Given the description of an element on the screen output the (x, y) to click on. 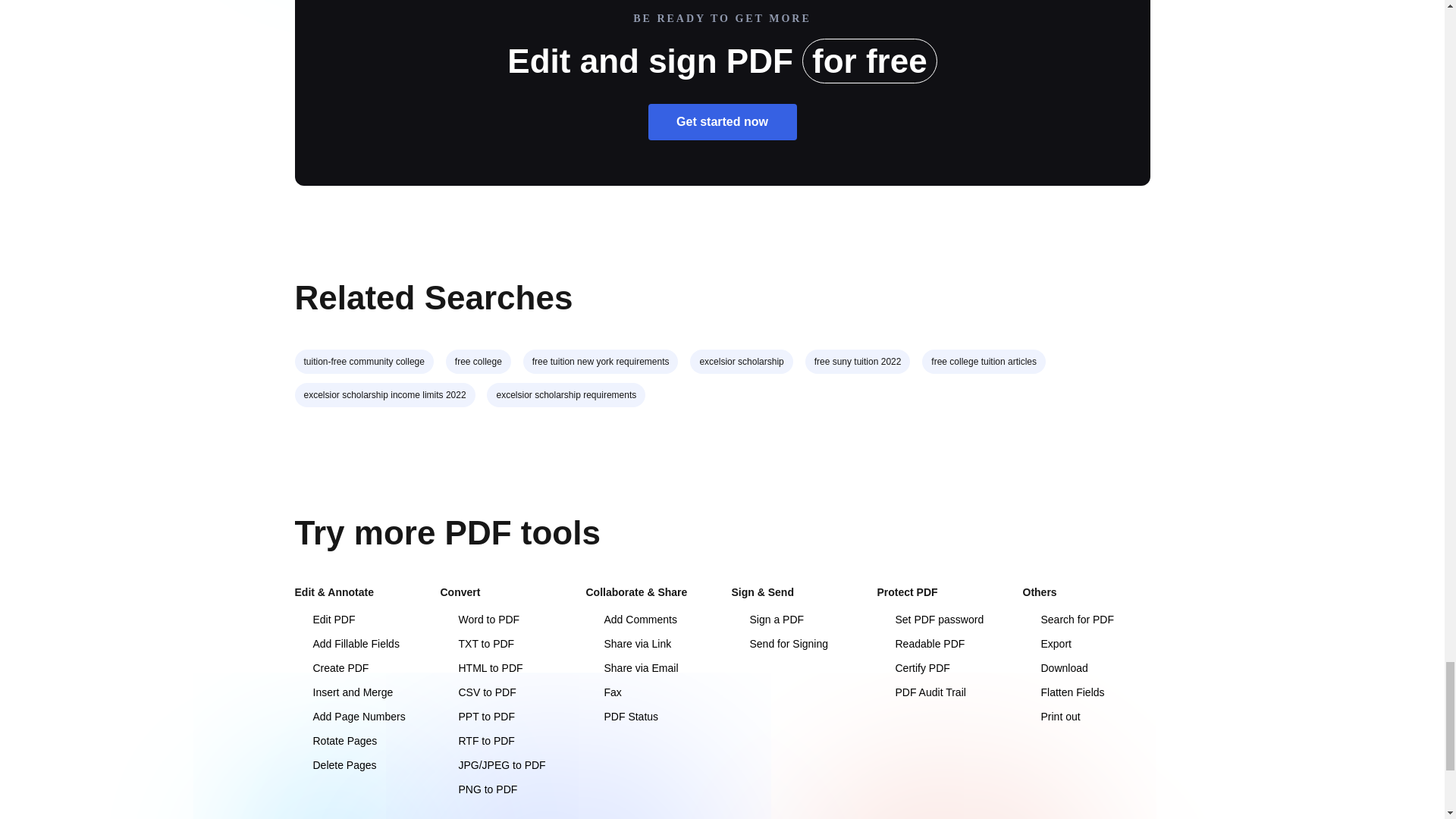
CSV to PDF (477, 692)
HTML to PDF (480, 667)
PPT to PDF (476, 716)
Add Fillable Fields (346, 644)
Sign a PDF (766, 619)
Edit PDF (324, 619)
Add Page Numbers (349, 716)
PNG to PDF (477, 788)
Get started now (721, 122)
Delete Pages (334, 765)
